Given the description of an element on the screen output the (x, y) to click on. 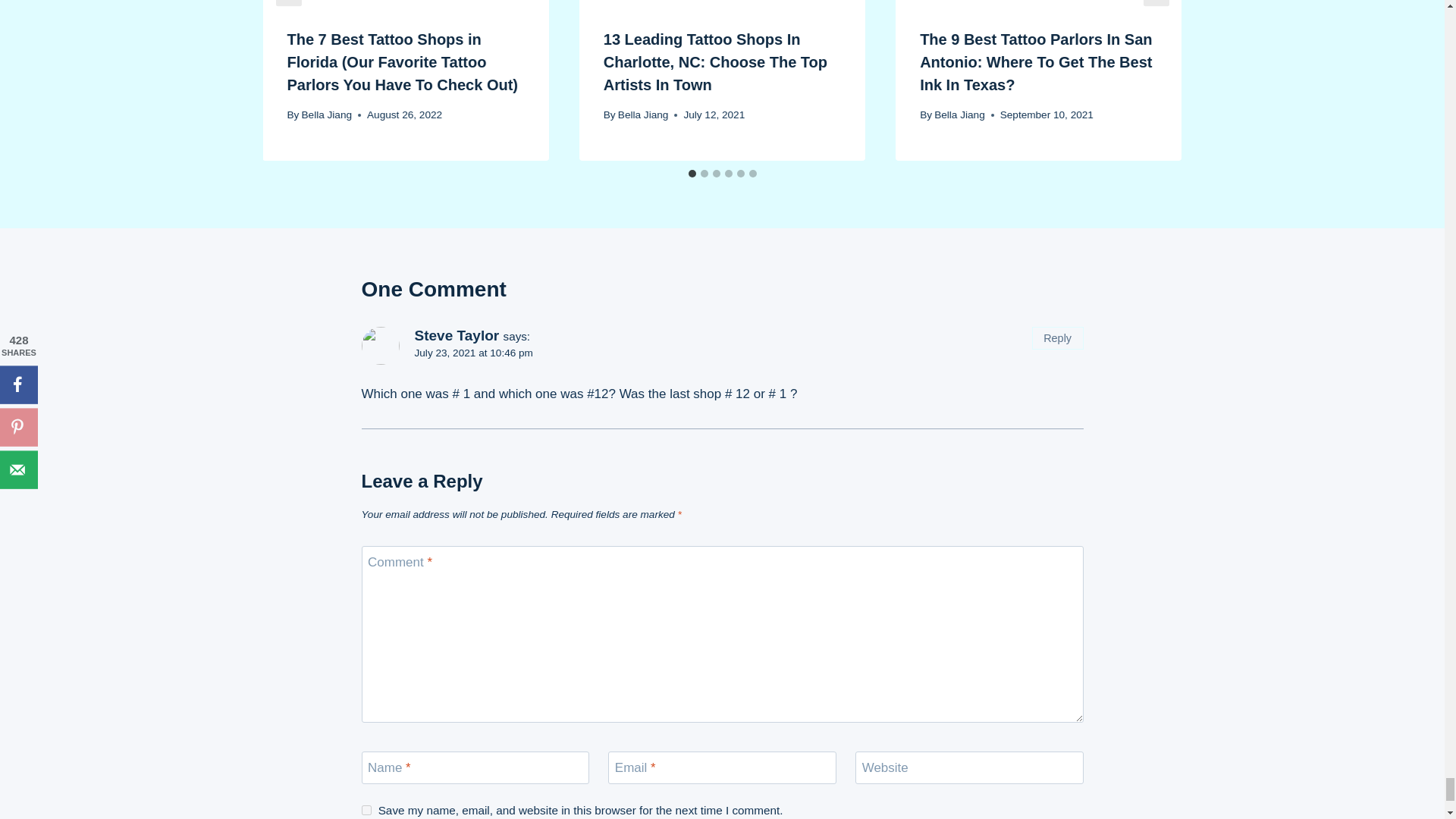
yes (366, 809)
